Given the description of an element on the screen output the (x, y) to click on. 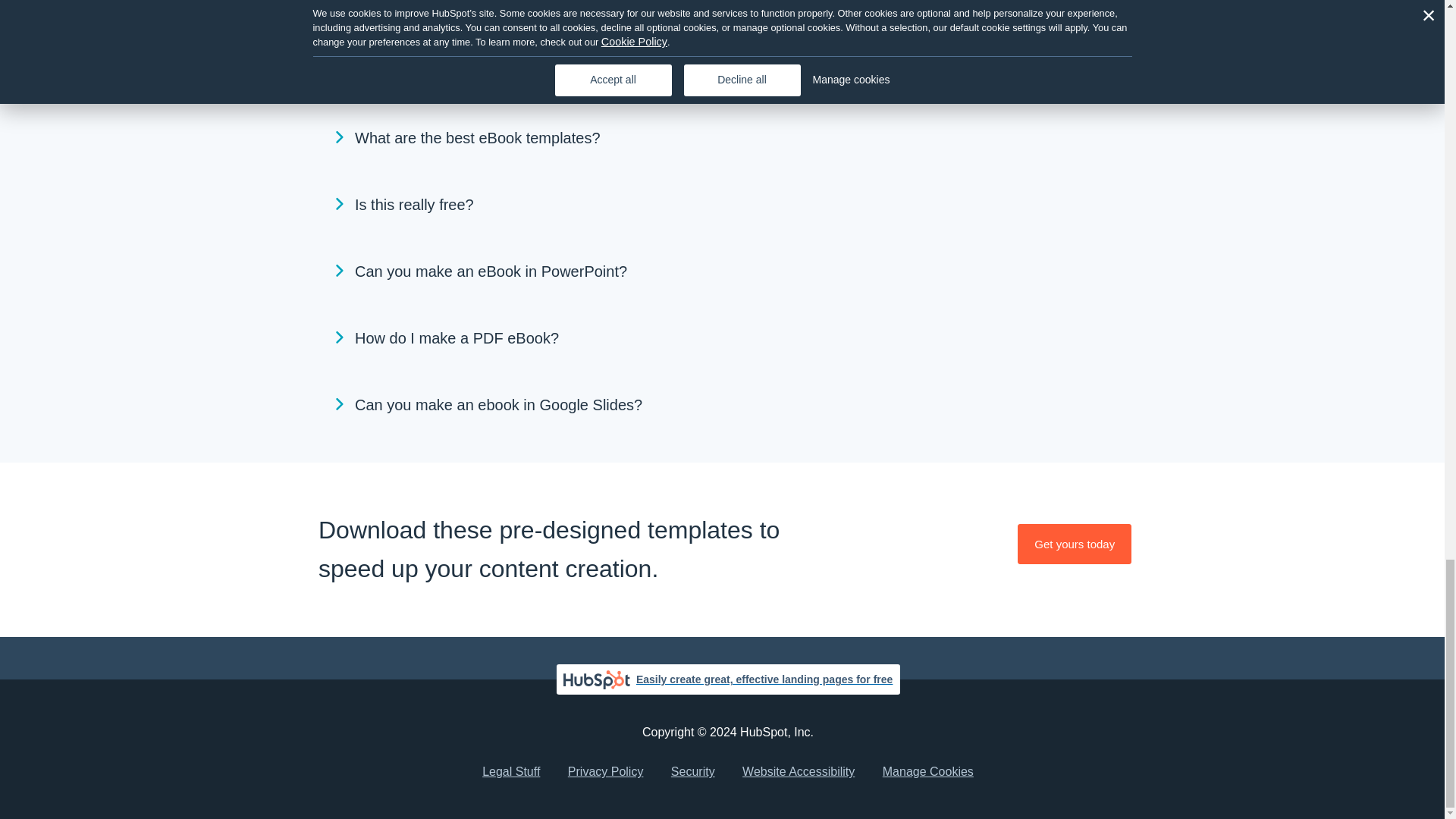
How do I make a PDF eBook? (727, 337)
Get yours today (1074, 544)
Can you make an eBook in PowerPoint? (727, 271)
Why do I need to fill out the information requested? (727, 70)
How do I make an eBook template? (727, 18)
Can you make an ebook in Google Slides? (727, 404)
Is this really free? (727, 204)
What are the best eBook templates? (727, 137)
